Given the description of an element on the screen output the (x, y) to click on. 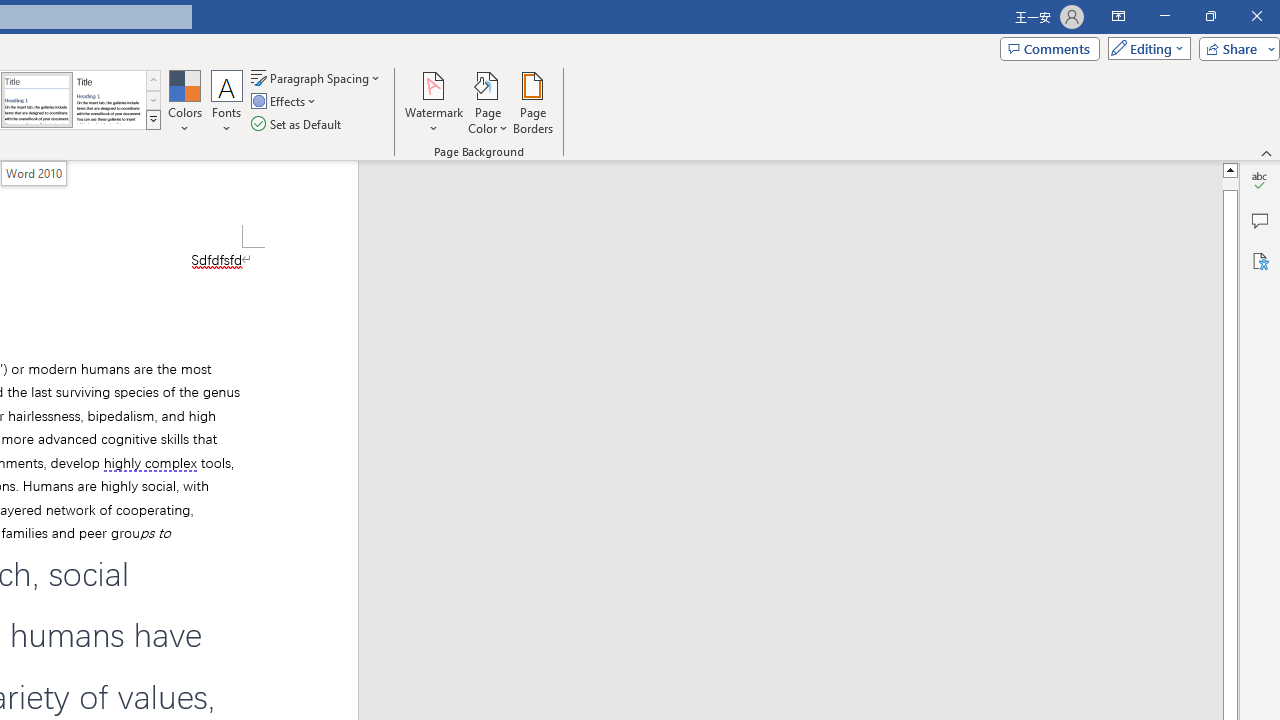
Page Color (487, 102)
Fonts (227, 102)
Editing (1144, 47)
Word 2013 (108, 100)
Watermark (434, 102)
Effects (285, 101)
